Given the description of an element on the screen output the (x, y) to click on. 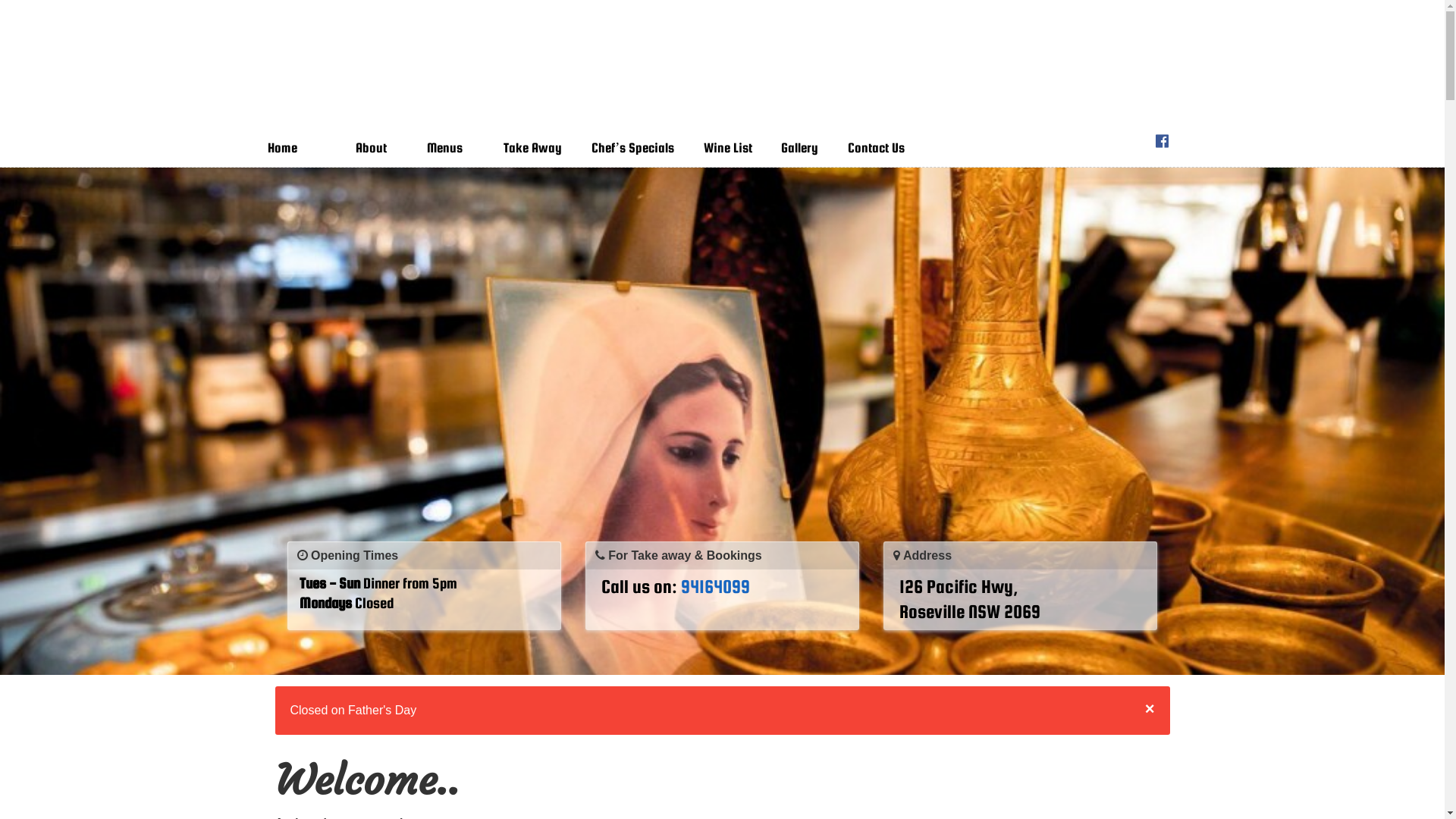
Menus Element type: text (448, 147)
Home Element type: text (288, 147)
Contact Us Element type: text (883, 147)
About Element type: text (375, 147)
94164099 Element type: text (714, 585)
Wine List Element type: text (734, 147)
Logo Element type: text (721, 73)
Take Away Element type: text (539, 147)
Gallery Element type: text (806, 147)
